Given the description of an element on the screen output the (x, y) to click on. 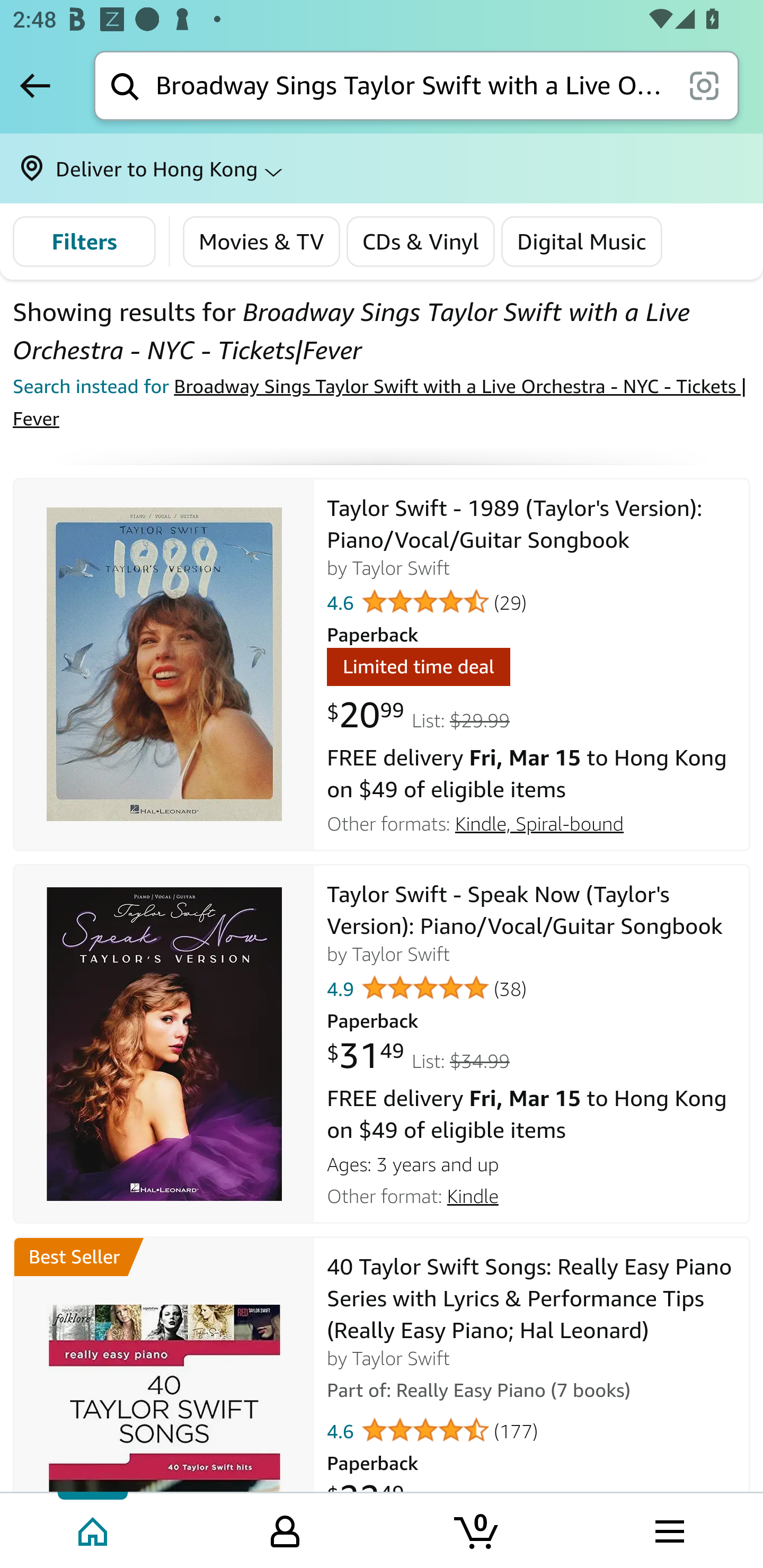
Back (35, 85)
scan it (704, 85)
Deliver to Hong Kong ⌵ (381, 168)
Filters (83, 241)
Movies & TV (261, 241)
CDs & Vinyl (419, 241)
CDs & Vinyl (419, 241)
Digital Music (581, 241)
Limited time deal (417, 669)
Ages: 3 years and up (532, 1162)
Home Tab 1 of 4 (94, 1529)
Your Amazon.com Tab 2 of 4 (285, 1529)
Cart 0 item Tab 3 of 4 0 (477, 1529)
Browse menu Tab 4 of 4 (668, 1529)
